Given the description of an element on the screen output the (x, y) to click on. 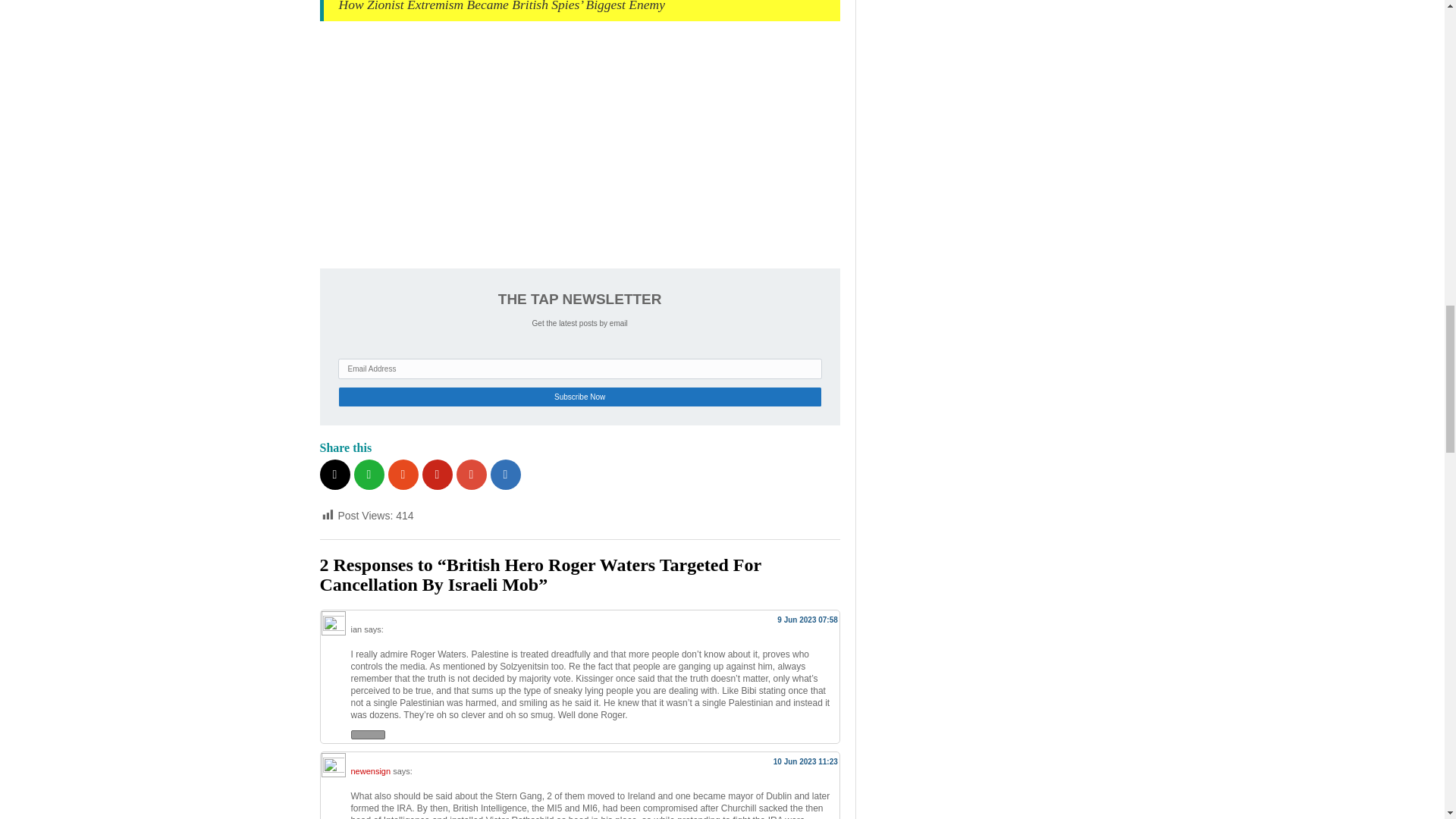
10 Jun 2023 11:23 (805, 761)
Subscribe Now (579, 396)
9 Jun 2023 07:58 (807, 619)
Subscribe Now (579, 396)
newensign (370, 770)
